Given the description of an element on the screen output the (x, y) to click on. 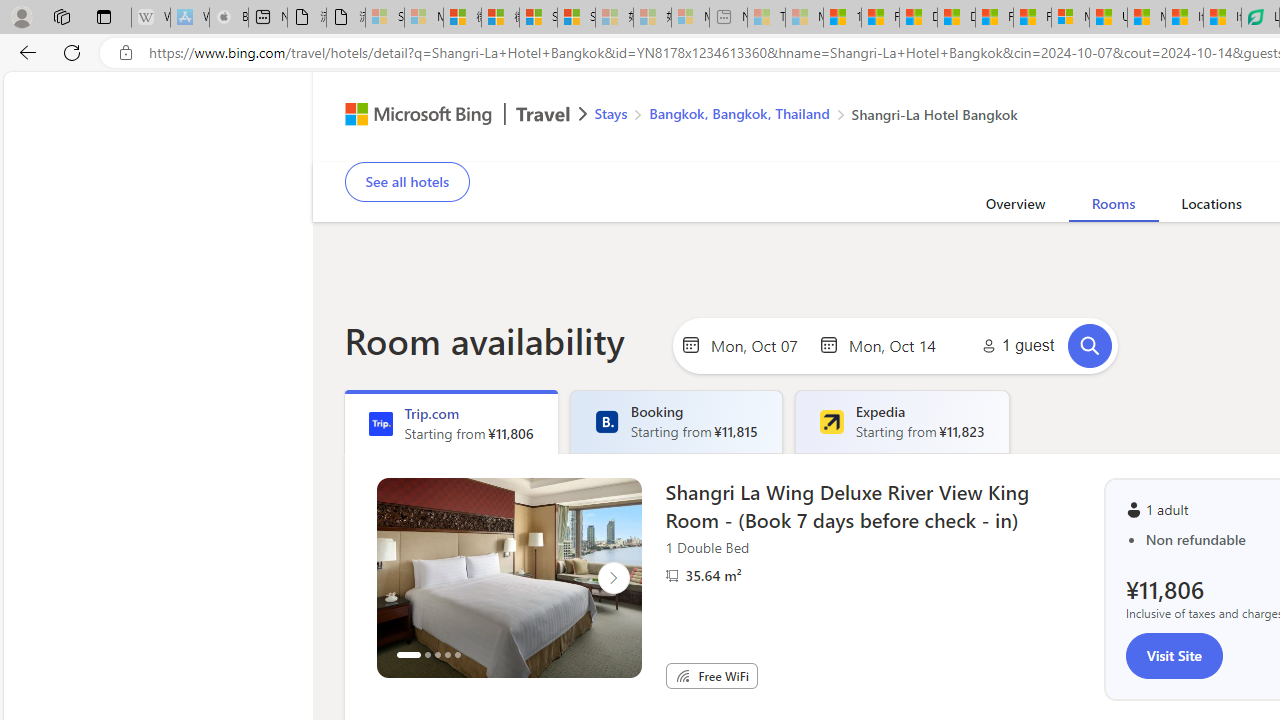
Free WiFi (682, 676)
Microsoft Bing Travel (445, 116)
Swimming pool (1249, 148)
Microsoft Services Agreement - Sleeping (423, 17)
Conference rooms (1168, 148)
2,234 Booking.com reviews (493, 128)
Foo BAR | Trusted Community Engagement and Contributions (1031, 17)
Overview (1015, 207)
End date (897, 344)
